Given the description of an element on the screen output the (x, y) to click on. 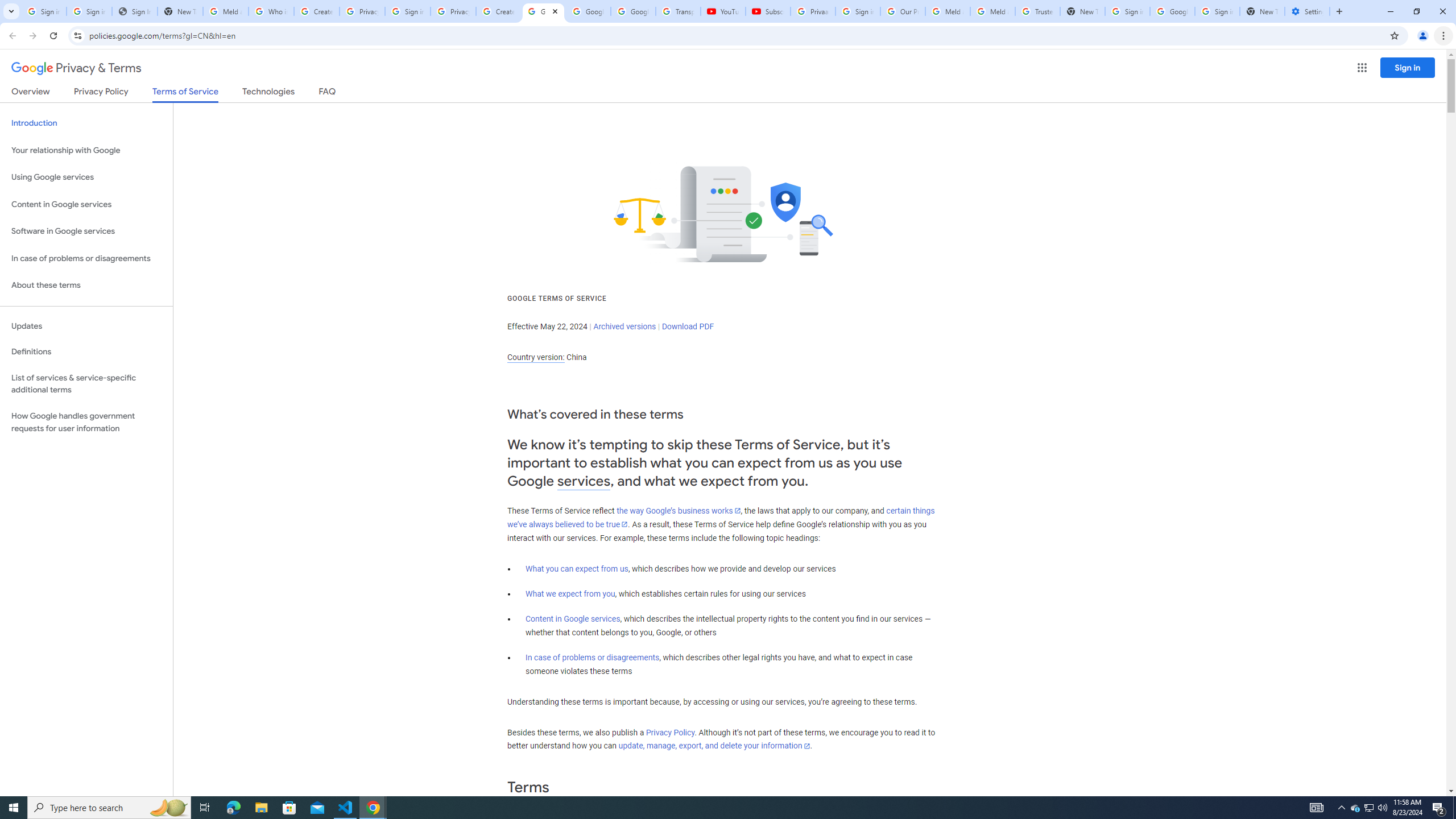
Sign in - Google Accounts (857, 11)
update, manage, export, and delete your information (714, 746)
In case of problems or disagreements (592, 657)
services (583, 480)
What you can expect from us (576, 568)
Settings - Addresses and more (1307, 11)
Country version: (535, 357)
About these terms (86, 284)
Privacy & Terms (76, 68)
